Given the description of an element on the screen output the (x, y) to click on. 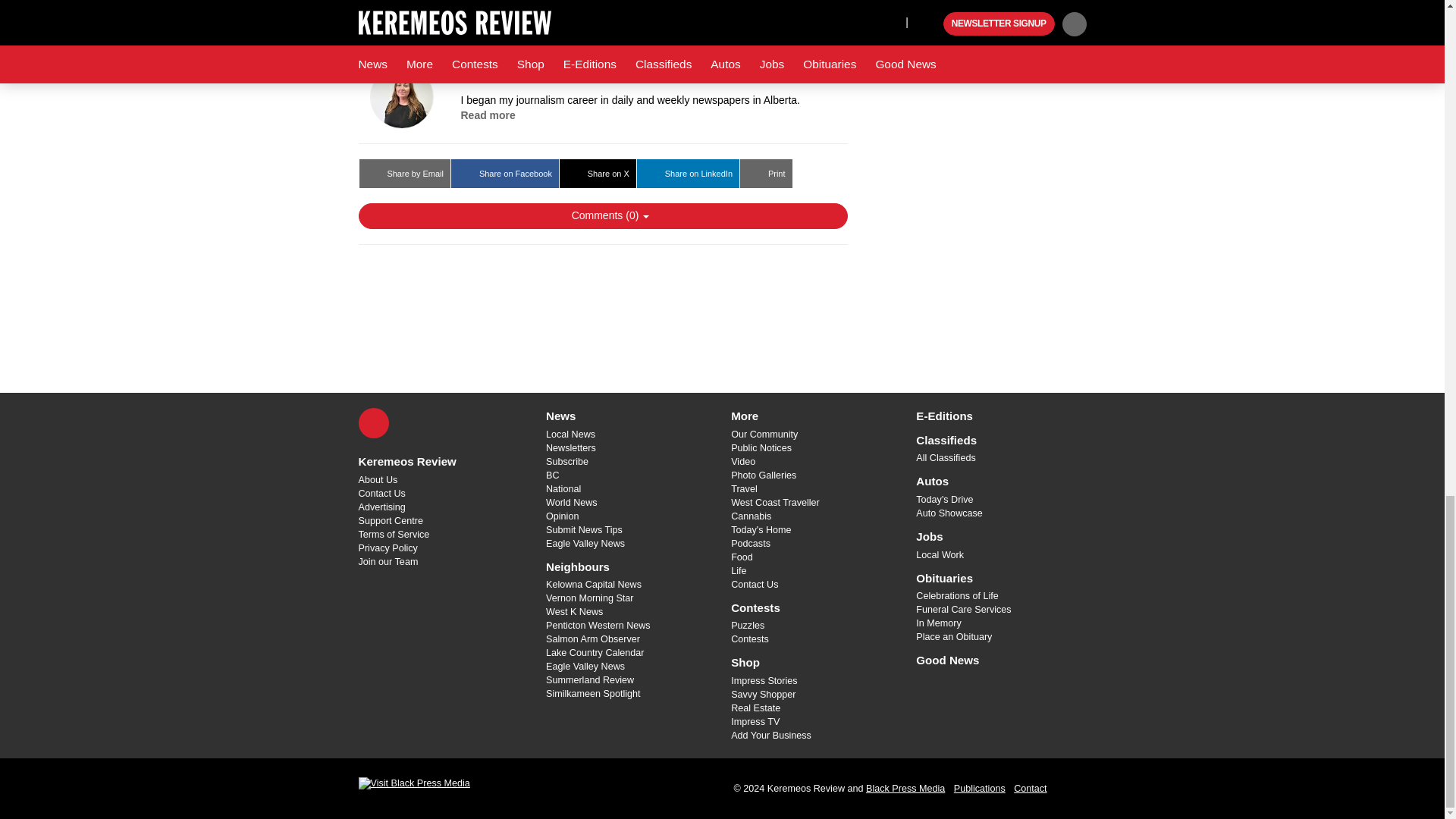
X (373, 422)
Show Comments (602, 216)
